Given the description of an element on the screen output the (x, y) to click on. 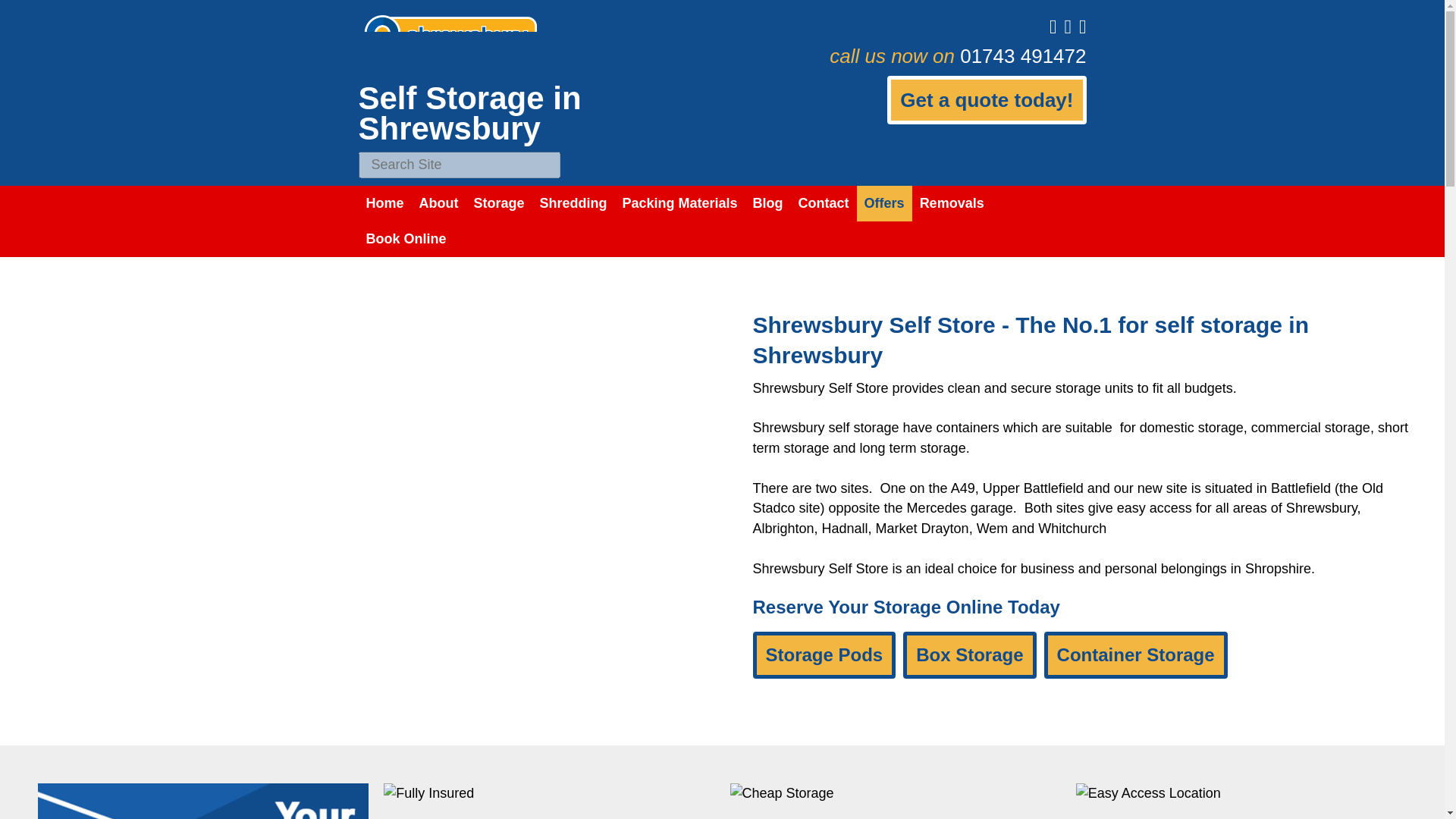
Packing Materials (679, 203)
Container Storage (1135, 654)
Offers (884, 203)
Storage Pods (823, 654)
About (438, 203)
01743 491472 (1022, 56)
Storage (498, 203)
Shredding (573, 203)
Box Storage (968, 654)
Removals (951, 203)
